Given the description of an element on the screen output the (x, y) to click on. 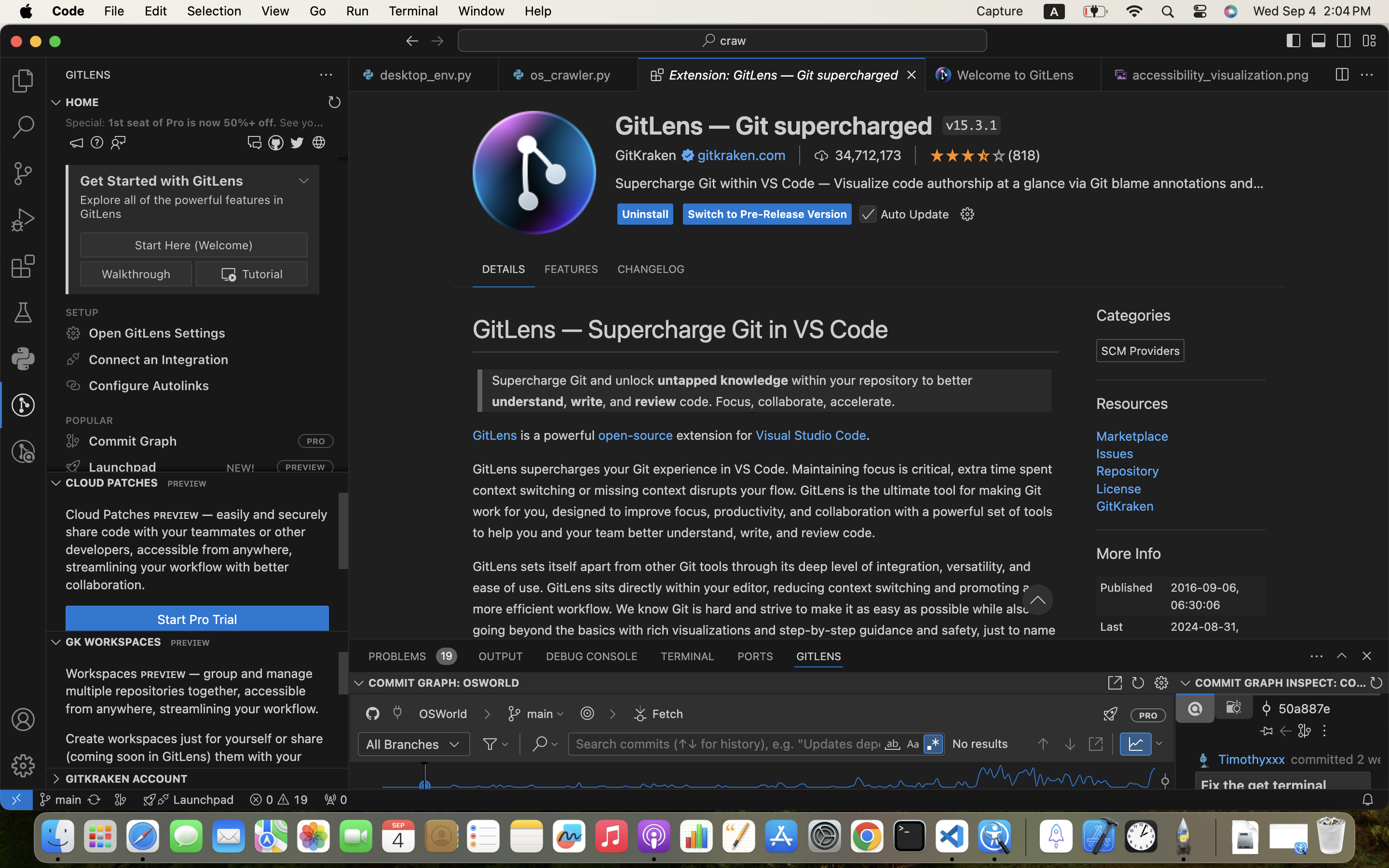
0 Element type: AXRadioButton (23, 358)
 Element type: AXCheckBox (867, 214)
0 accessibility_visualization.png   Element type: AXRadioButton (1214, 74)
Issues Element type: AXStaticText (1114, 453)
review Element type: AXStaticText (417, 199)
